Given the description of an element on the screen output the (x, y) to click on. 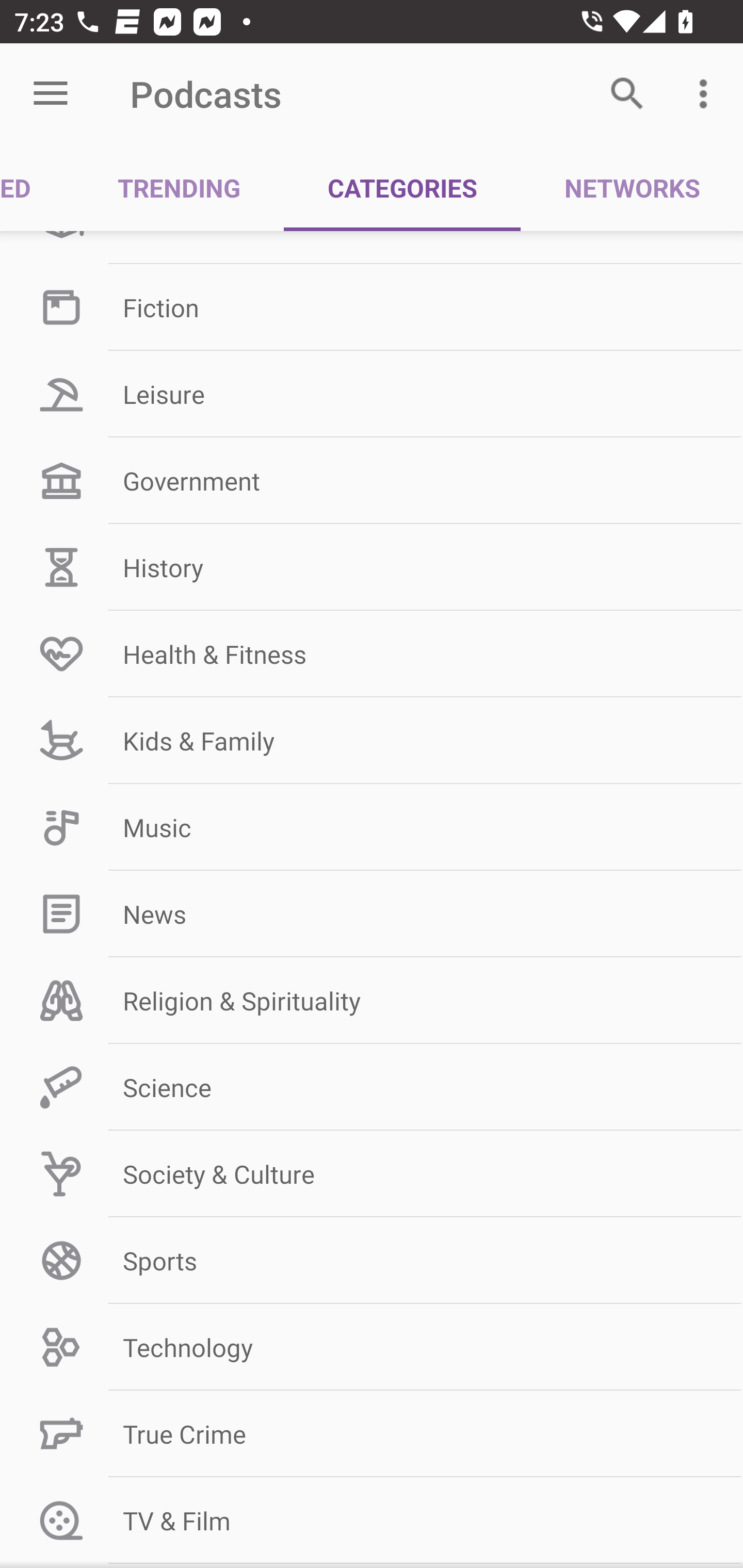
Open menu (50, 93)
Search (626, 93)
More options (706, 93)
TRENDING (178, 187)
CATEGORIES (401, 187)
NETWORKS (631, 187)
Fiction (371, 307)
Leisure (371, 394)
Government (371, 480)
History (371, 566)
Health & Fitness (371, 653)
Kids & Family (371, 740)
Music (371, 827)
News (371, 914)
Religion & Spirituality (371, 1001)
Science (371, 1087)
Society & Culture (371, 1173)
Sports (371, 1260)
Technology (371, 1347)
True Crime (371, 1433)
TV & Film (371, 1520)
